Given the description of an element on the screen output the (x, y) to click on. 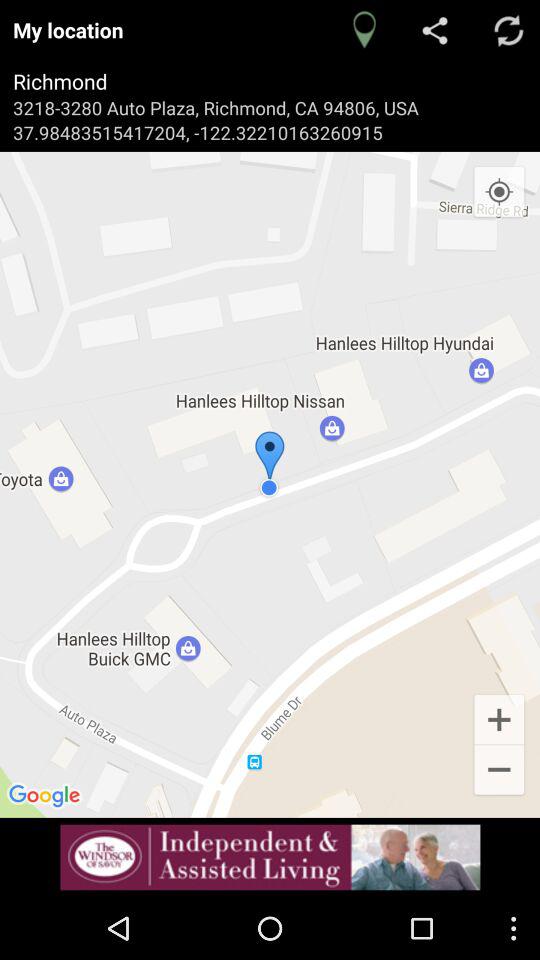
share (436, 29)
